Given the description of an element on the screen output the (x, y) to click on. 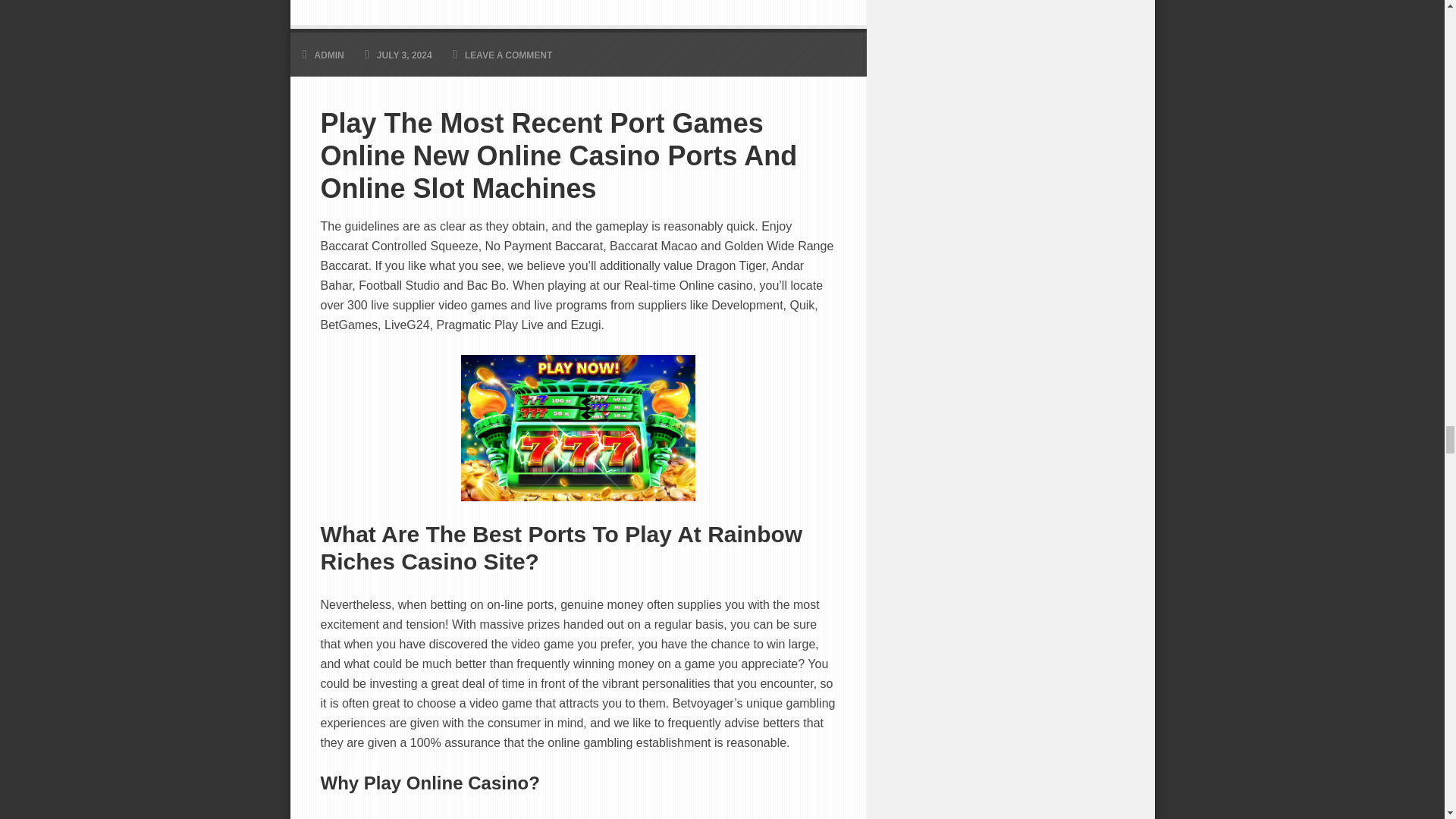
ADMIN (328, 54)
LEAVE A COMMENT (508, 54)
